Given the description of an element on the screen output the (x, y) to click on. 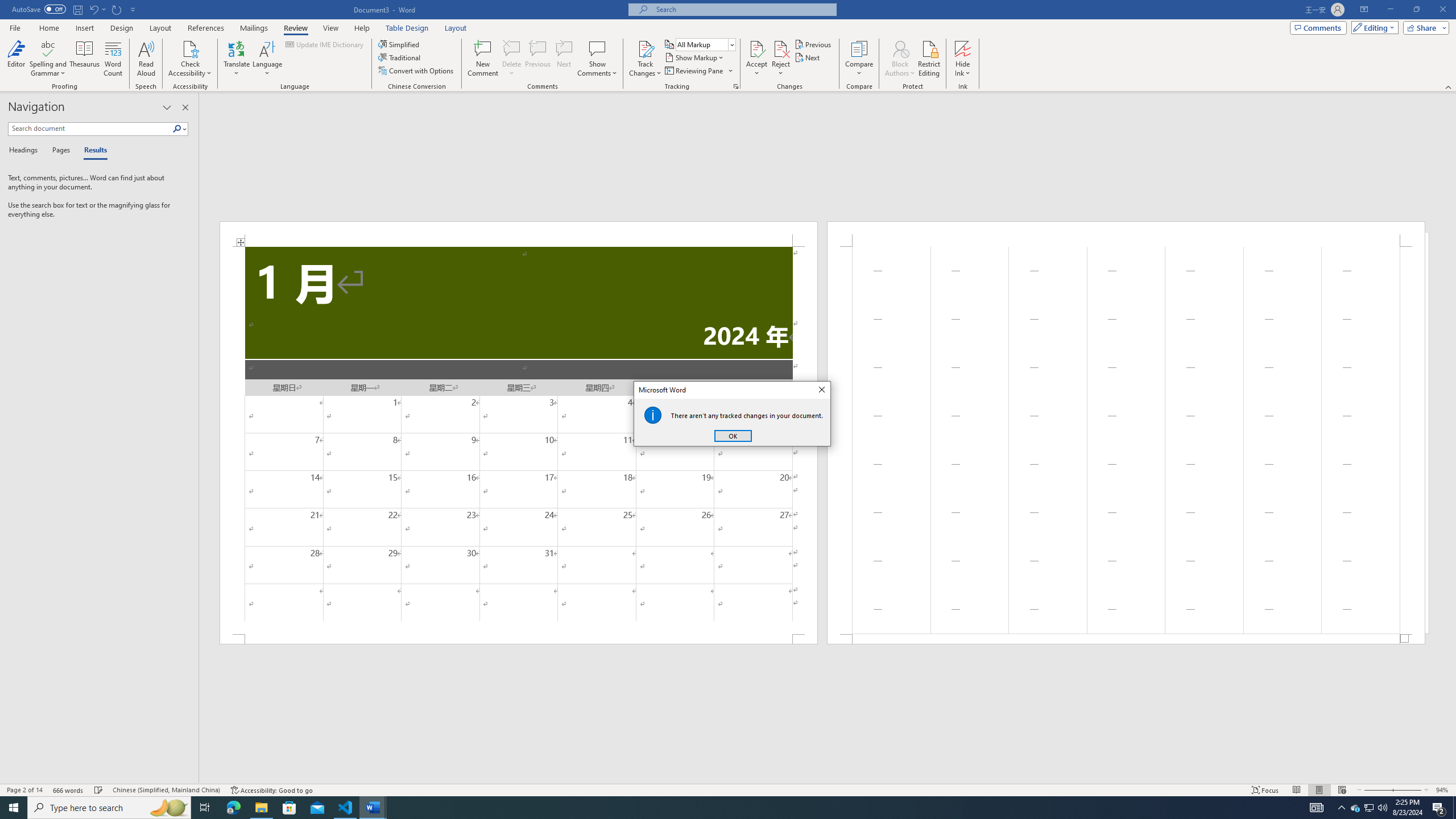
Convert with Options... (417, 69)
Word Count (113, 58)
Read Aloud (145, 58)
Show Comments (597, 58)
Translate (236, 58)
Next (808, 56)
Hide Ink (962, 58)
Check Accessibility (189, 58)
